Given the description of an element on the screen output the (x, y) to click on. 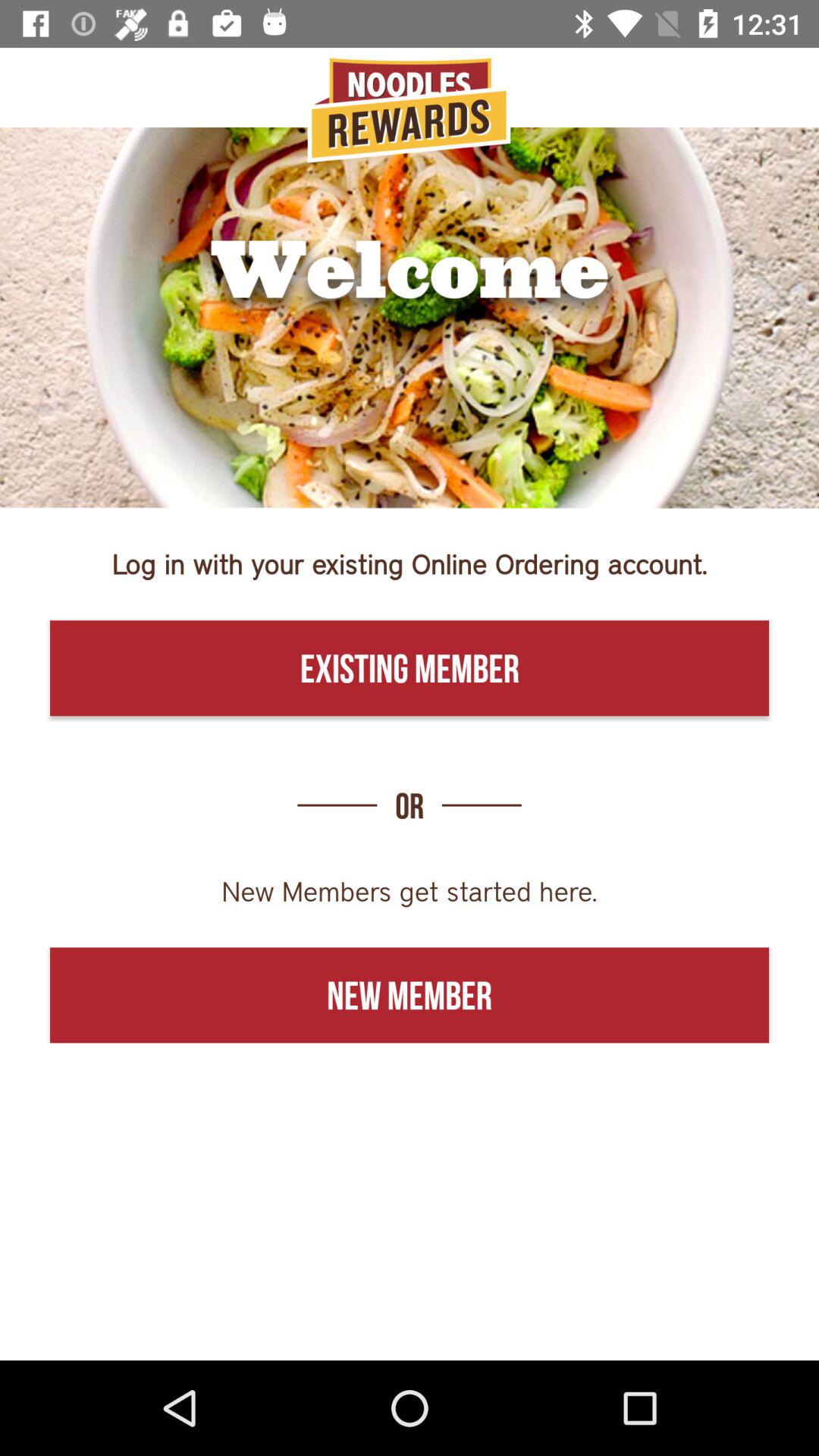
choose item above the or item (409, 668)
